Given the description of an element on the screen output the (x, y) to click on. 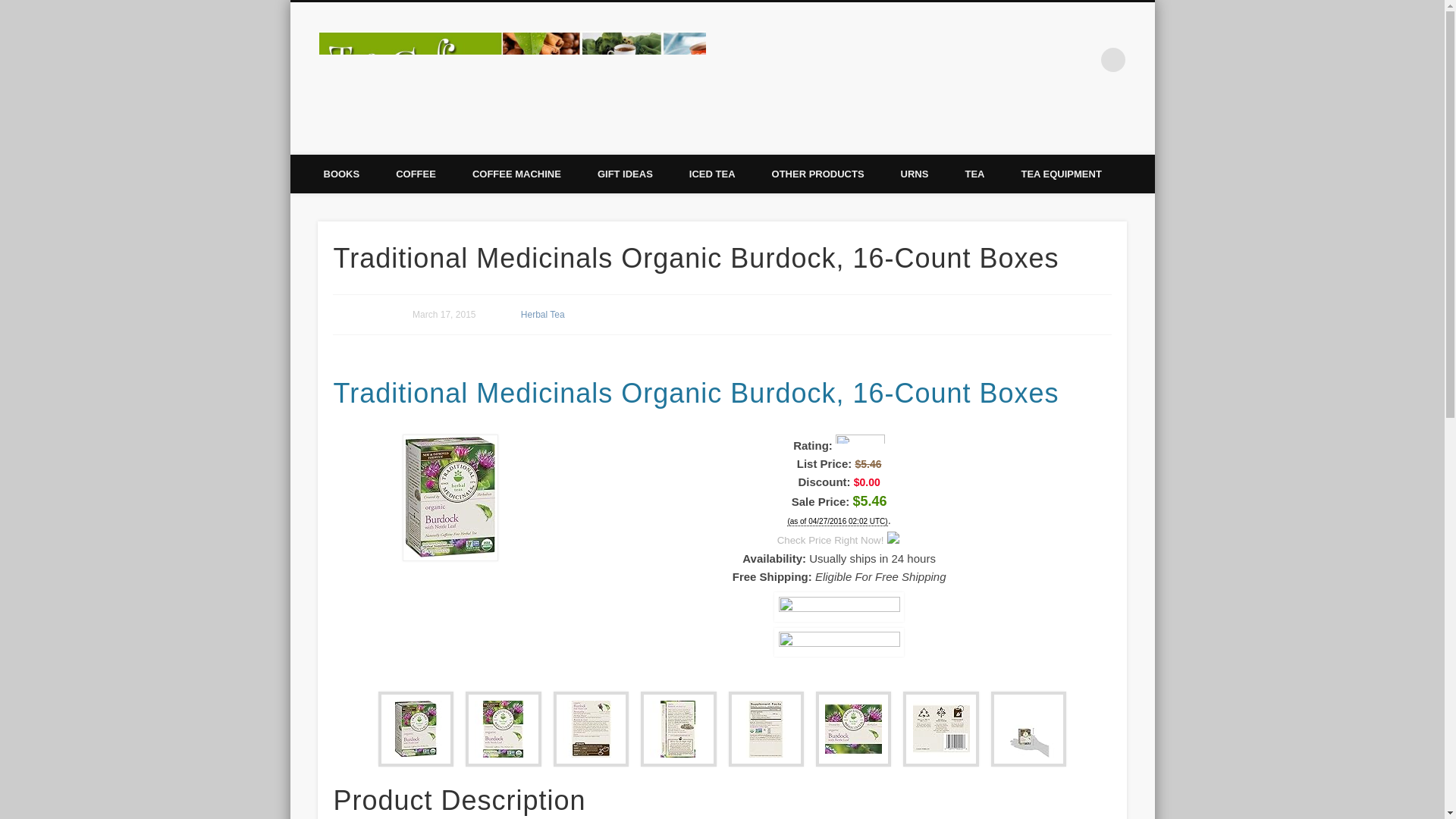
BOOKS (340, 173)
GIFT IDEAS (625, 173)
URNS (914, 173)
ICED TEA (712, 173)
COFFEE (415, 173)
Traditional Medicinals Organic Burdock, 16-Count Boxes (450, 556)
Traditional Medicinals Organic Burdock, 16-Count Boxes (839, 642)
COFFEE MACHINE (516, 173)
TEA (974, 173)
OTHER PRODUCTS (818, 173)
Tea Coffee Store (802, 59)
Traditional Medicinals Organic Burdock, 16-Count Boxes (839, 606)
Search (11, 7)
